Given the description of an element on the screen output the (x, y) to click on. 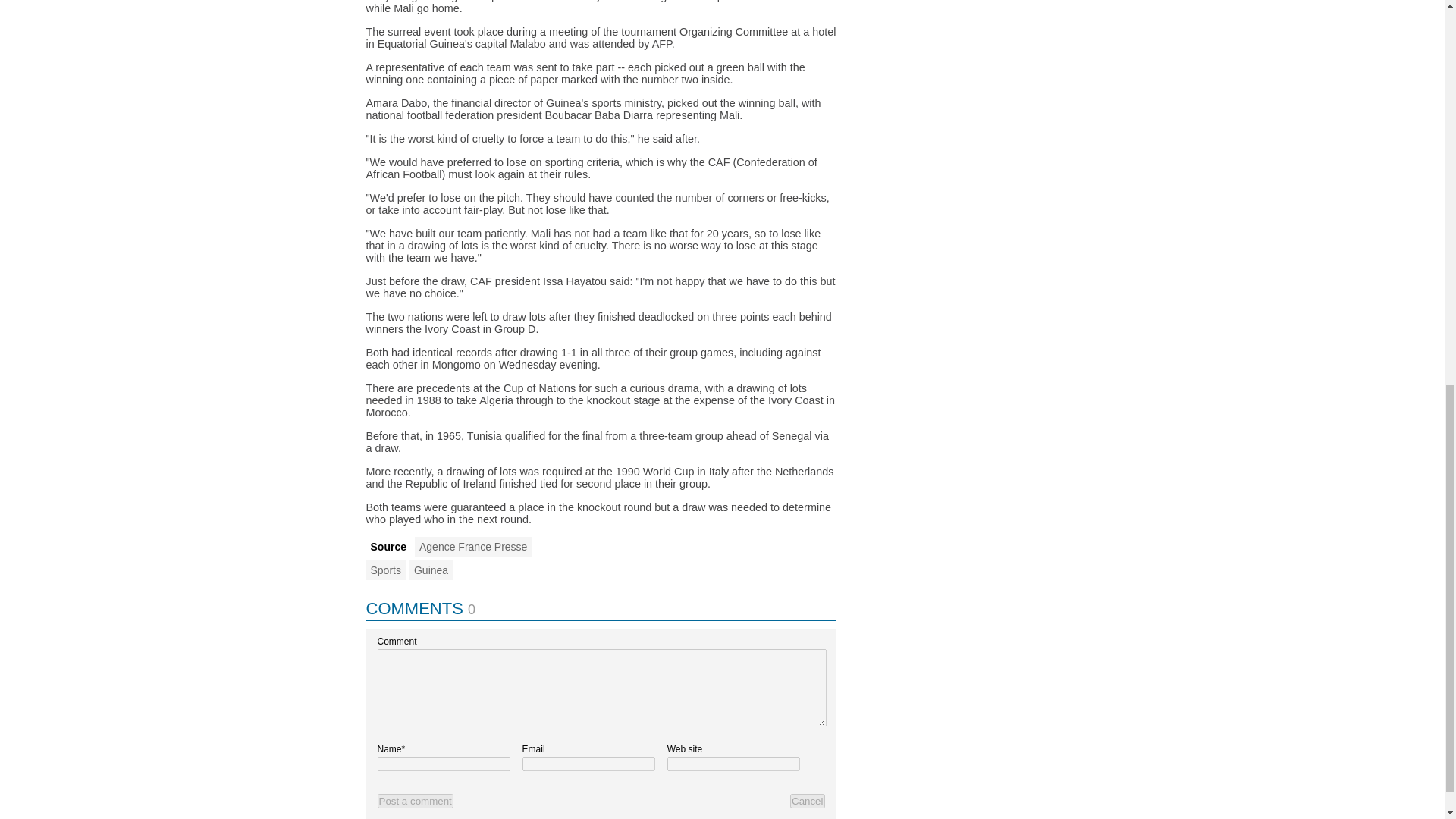
Post a comment (414, 800)
Agence France Presse (472, 546)
Sports (384, 569)
Cancel (807, 800)
Guinea (430, 569)
Post a comment (414, 800)
